Given the description of an element on the screen output the (x, y) to click on. 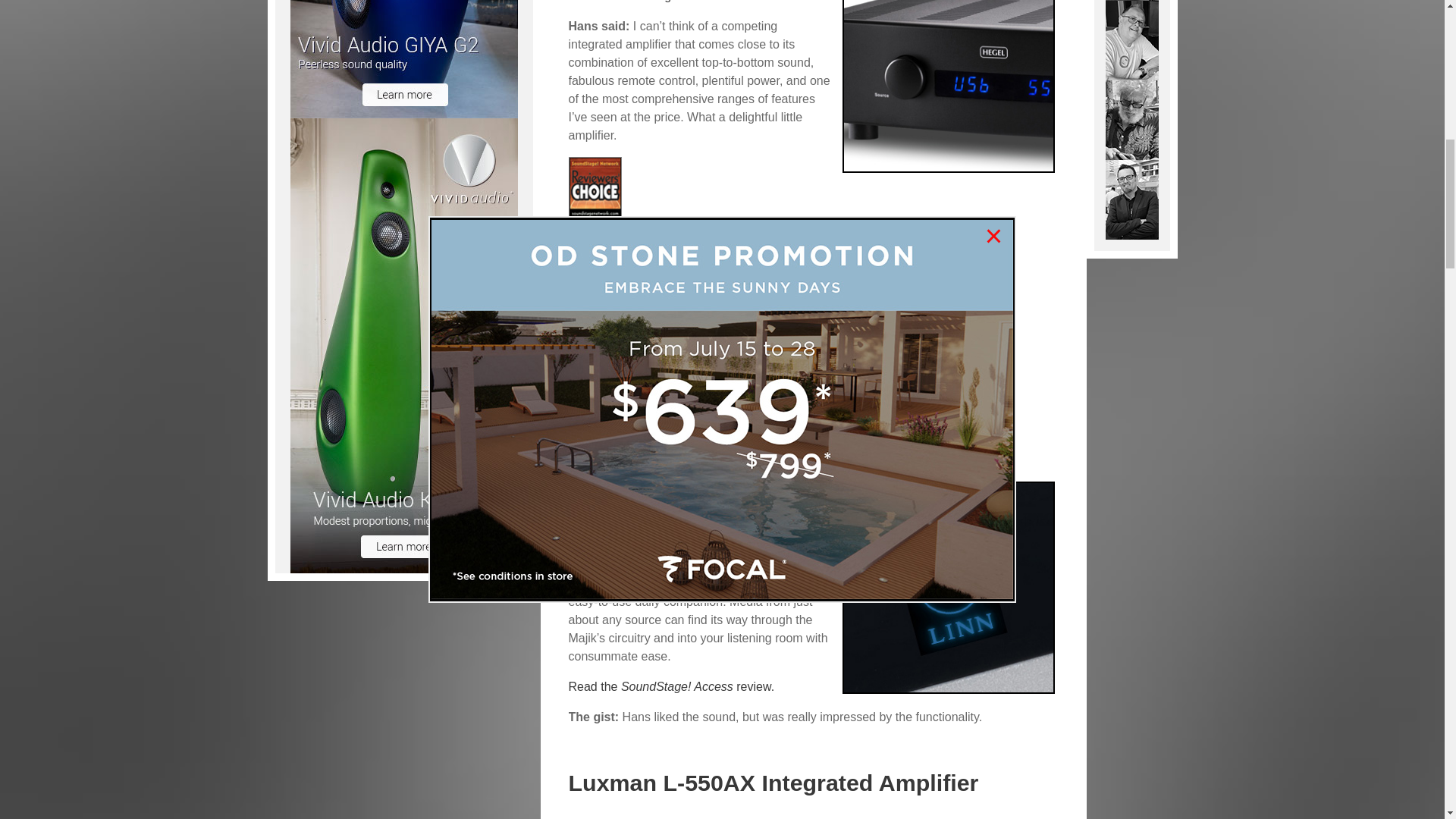
Thorpe 70W (1131, 38)
Brockhouse 70W (1131, 118)
Kramer 70W (1131, 197)
